Given the description of an element on the screen output the (x, y) to click on. 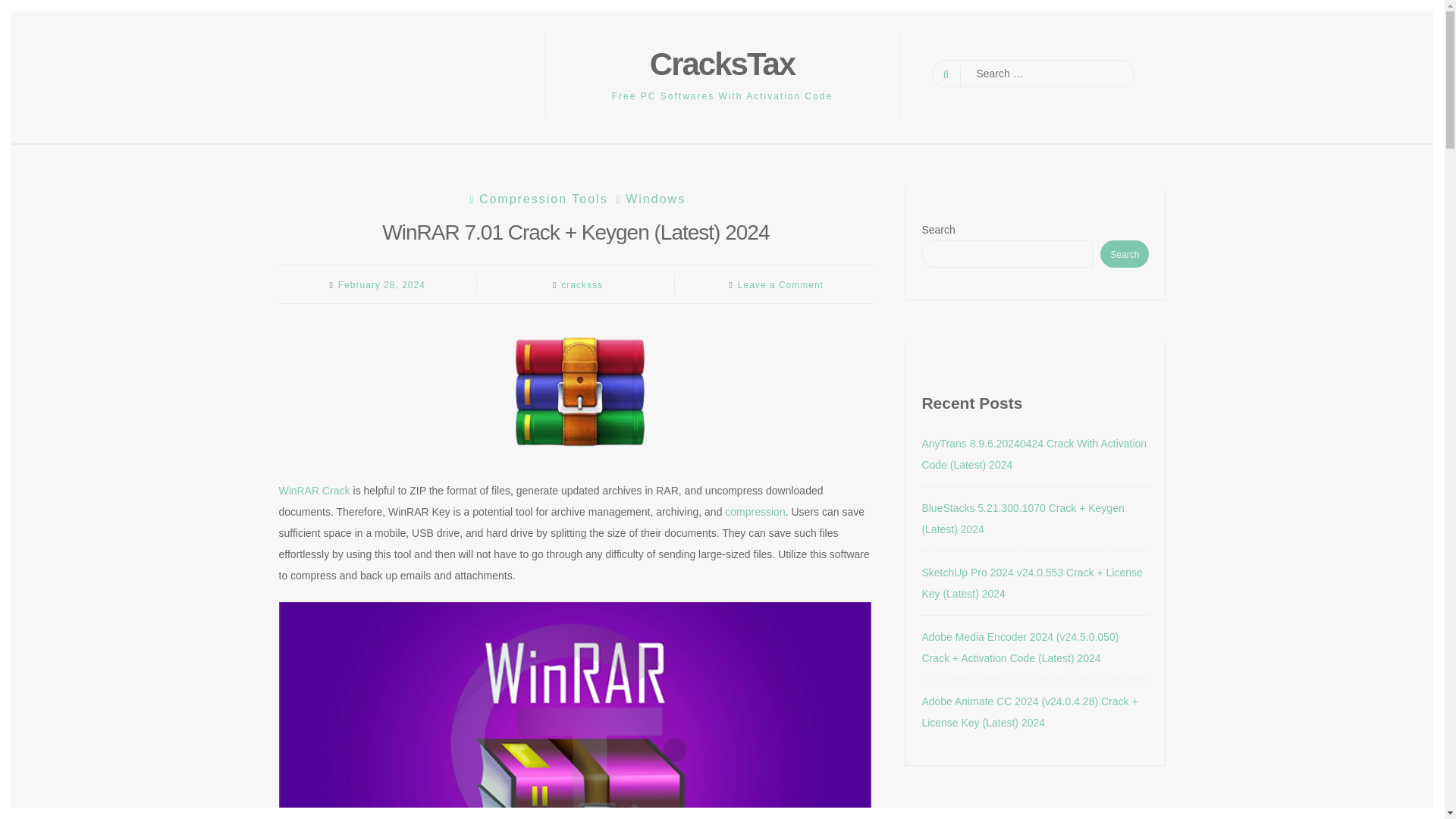
cracksss (581, 285)
Search (24, 9)
compression (754, 511)
CracksTax (721, 63)
Windows (648, 198)
WinRAR Crack (314, 490)
Compression Tools (536, 198)
